Given the description of an element on the screen output the (x, y) to click on. 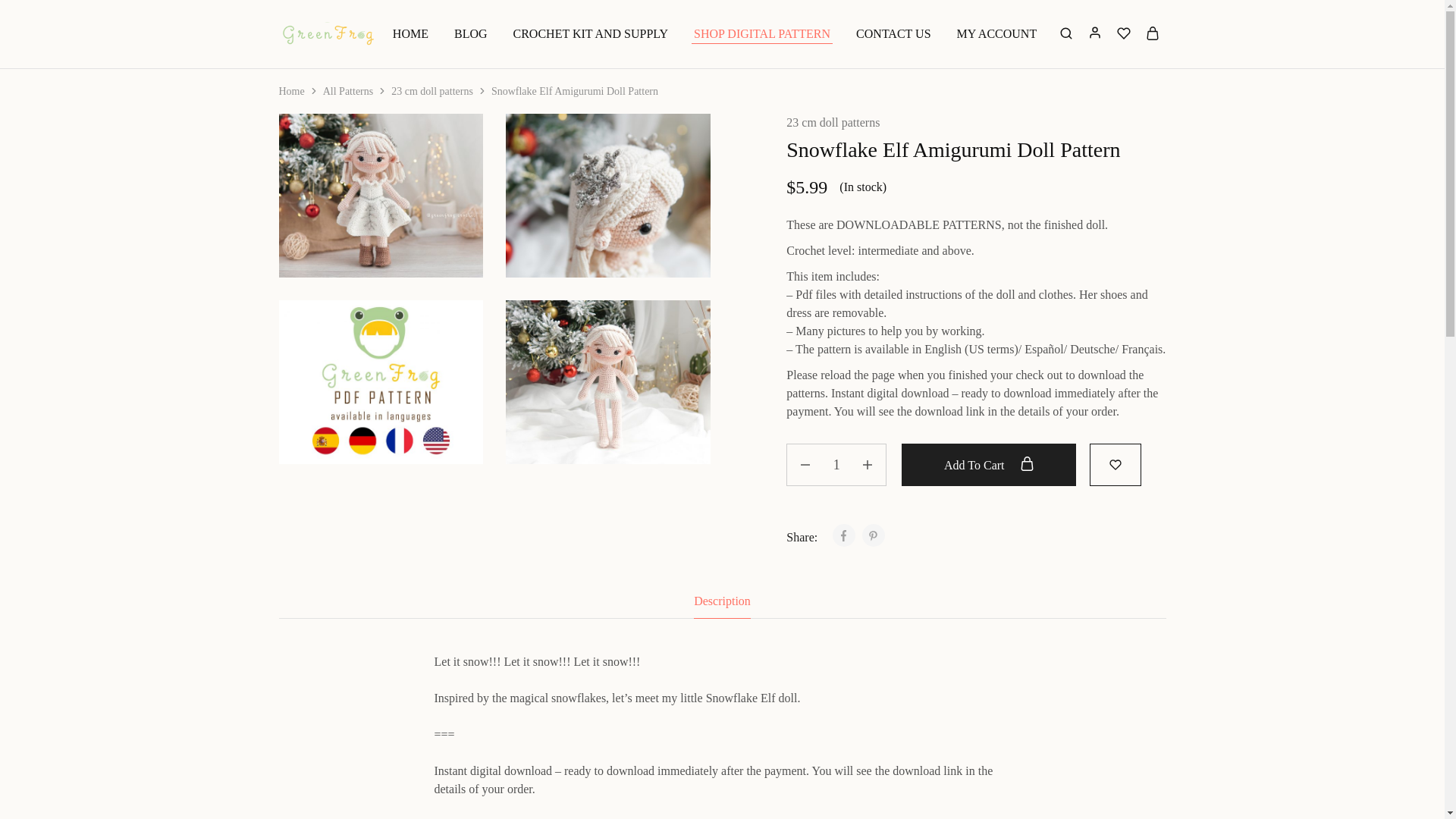
Qty (836, 464)
HOME (410, 33)
23 cm doll patterns (832, 122)
23 cm doll patterns (432, 91)
BLOG (470, 33)
1 (836, 464)
Home (291, 91)
MY ACCOUNT (997, 33)
amigurumi-doll-pattern-Christmas-elf-green-frog-crochet (381, 195)
Description (722, 601)
CONTACT US (893, 33)
Add To Cart (988, 464)
SHOP DIGITAL PATTERN (761, 33)
German US FR ES (381, 382)
amigurumi-doll-pattern-Christmas-elf-green-frog-crochet (607, 382)
